Given the description of an element on the screen output the (x, y) to click on. 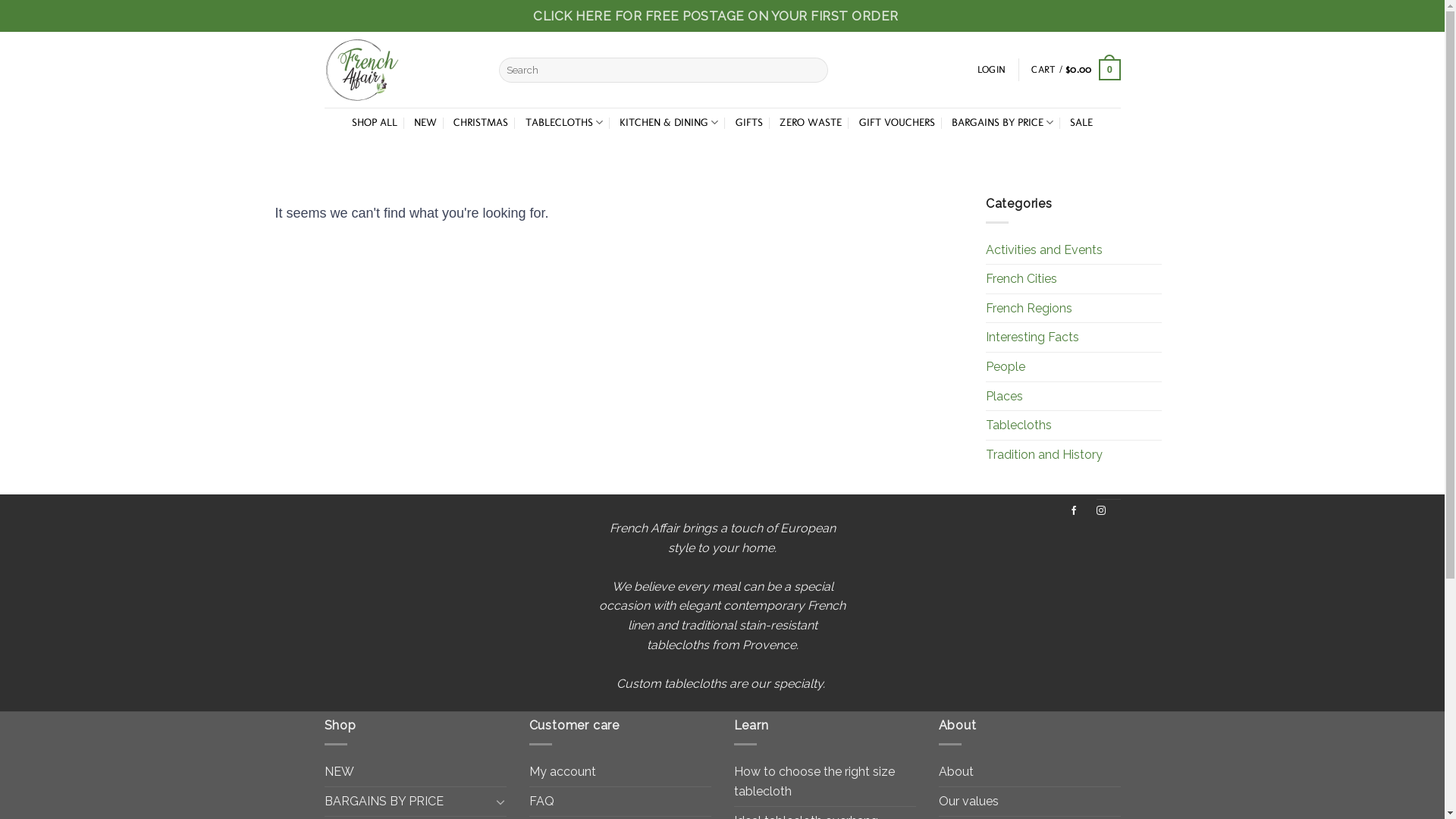
SHOP ALL Element type: text (374, 122)
Tradition and History Element type: text (1043, 454)
French Cities Element type: text (1021, 278)
BARGAINS BY PRICE Element type: text (407, 801)
How to choose the right size tablecloth Element type: text (825, 781)
ZERO WASTE Element type: text (810, 122)
People Element type: text (1005, 366)
FAQ Element type: text (541, 801)
My account Element type: text (562, 771)
GIFTS Element type: text (748, 122)
CHRISTMAS Element type: text (480, 122)
CLICK HERE FOR FREE POSTAGE ON YOUR FIRST ORDER Element type: text (715, 15)
Interesting Facts Element type: text (1032, 337)
NEW Element type: text (425, 122)
Search Element type: text (812, 69)
Activities and Events Element type: text (1043, 249)
Places Element type: text (1003, 396)
KITCHEN & DINING Element type: text (668, 122)
BARGAINS BY PRICE Element type: text (1002, 122)
TABLECLOTHS Element type: text (563, 122)
French Regions Element type: text (1028, 308)
LOGIN Element type: text (991, 69)
SALE Element type: text (1081, 122)
Tablecloths Element type: text (1018, 425)
About Element type: text (955, 771)
CART / $0.00
0 Element type: text (1075, 69)
GIFT VOUCHERS Element type: text (897, 122)
NEW Element type: text (415, 771)
Our values Element type: text (968, 801)
